Given the description of an element on the screen output the (x, y) to click on. 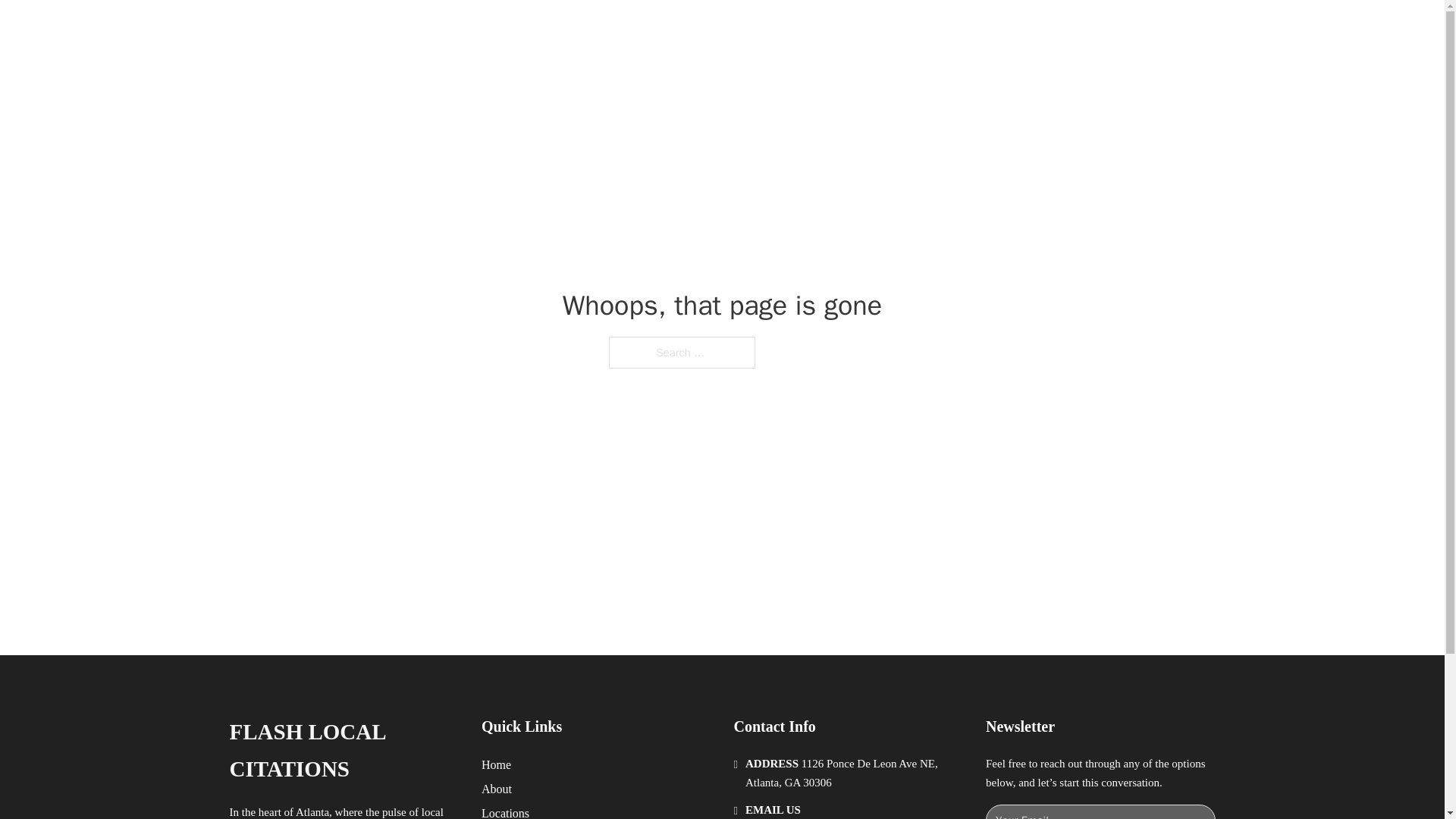
FLASH LOCAL CITATIONS (343, 750)
About (496, 788)
Home (496, 764)
Locations (505, 811)
